Given the description of an element on the screen output the (x, y) to click on. 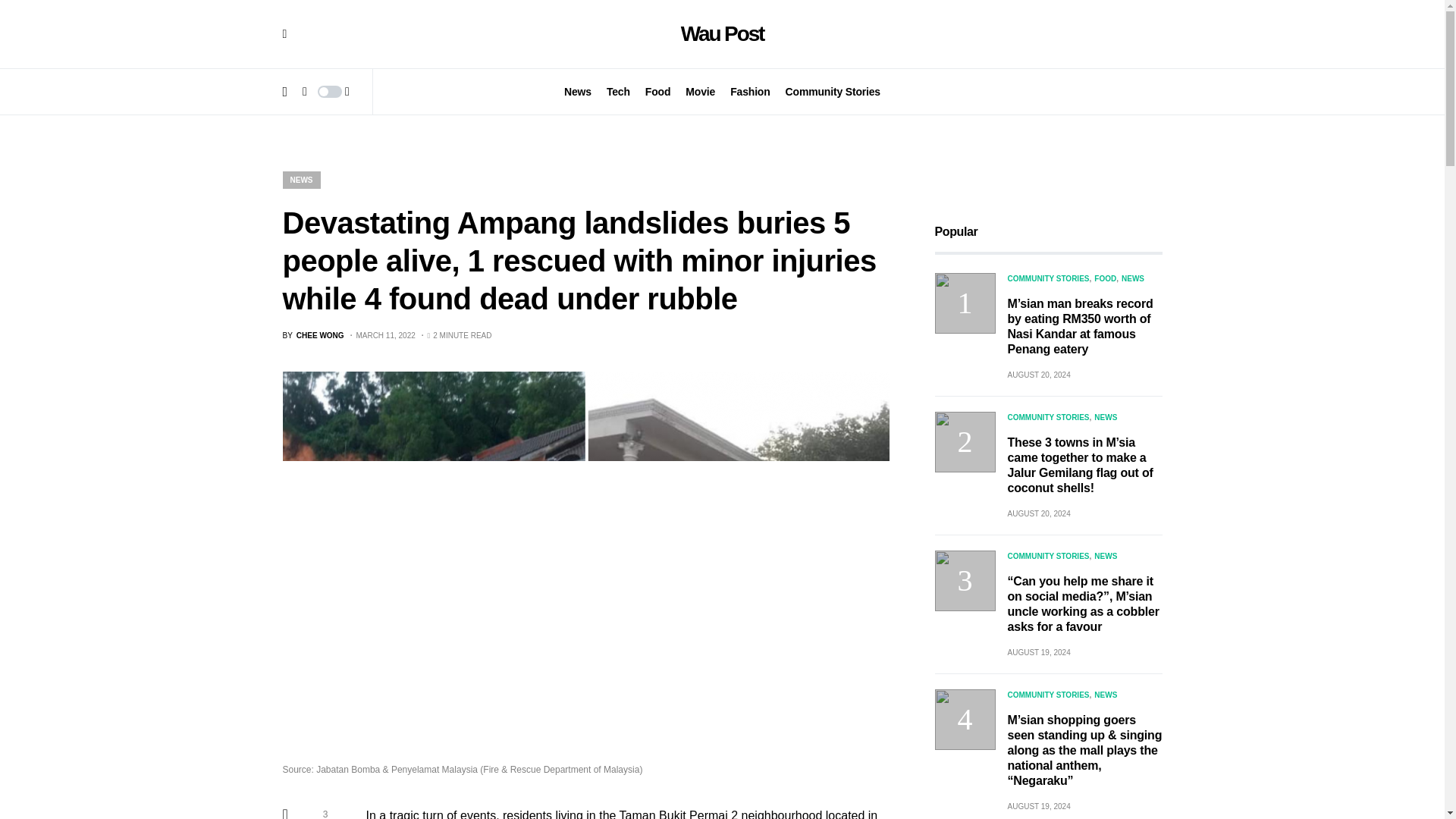
Community Stories (833, 91)
Wau Post (722, 33)
View all posts by Chee Wong (312, 335)
